Given the description of an element on the screen output the (x, y) to click on. 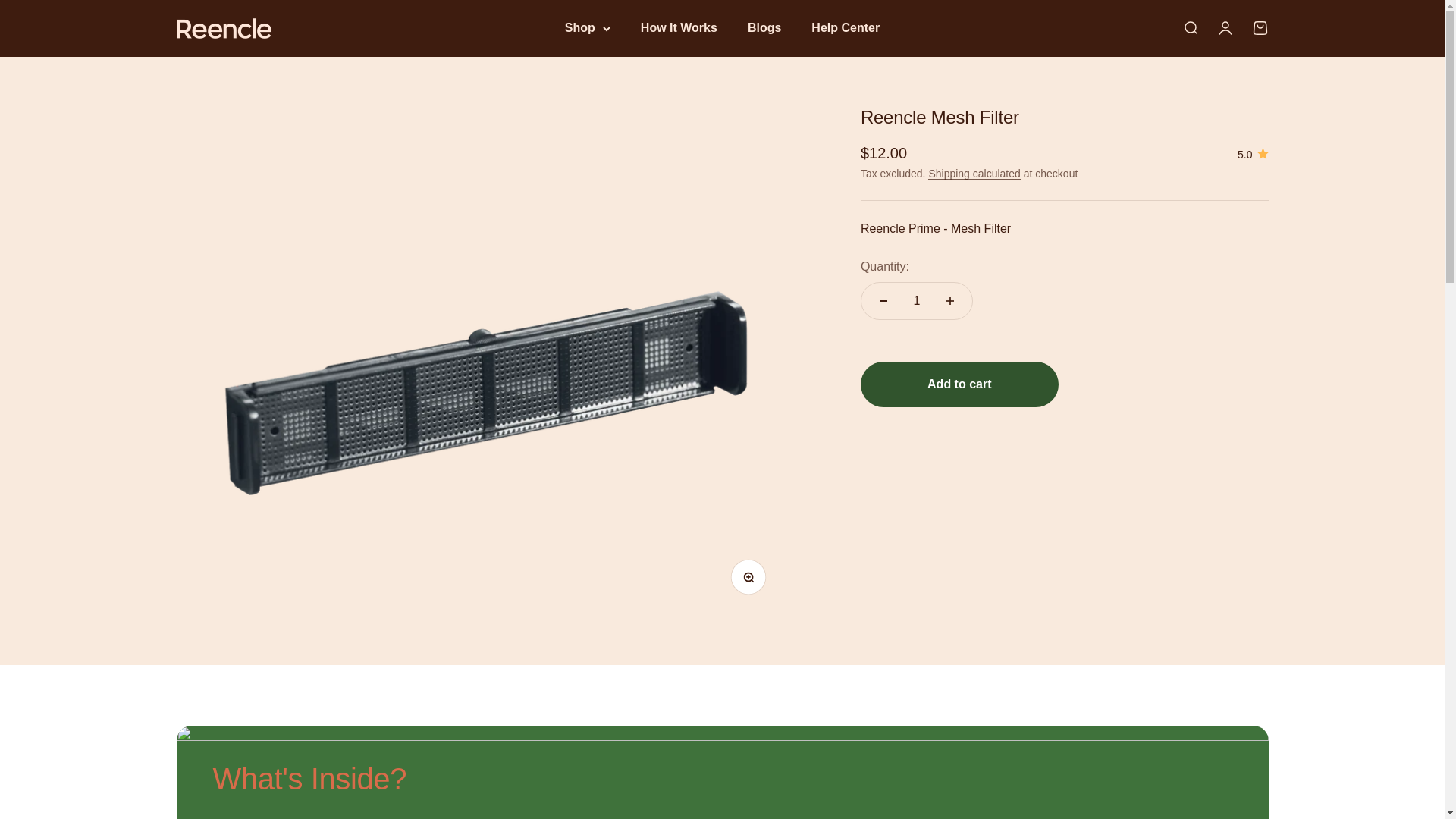
Open account page (1224, 27)
Open search (1189, 27)
Blogs (764, 27)
1 review (1252, 154)
reencle (223, 28)
Help Center (844, 27)
How It Works (678, 27)
